Given the description of an element on the screen output the (x, y) to click on. 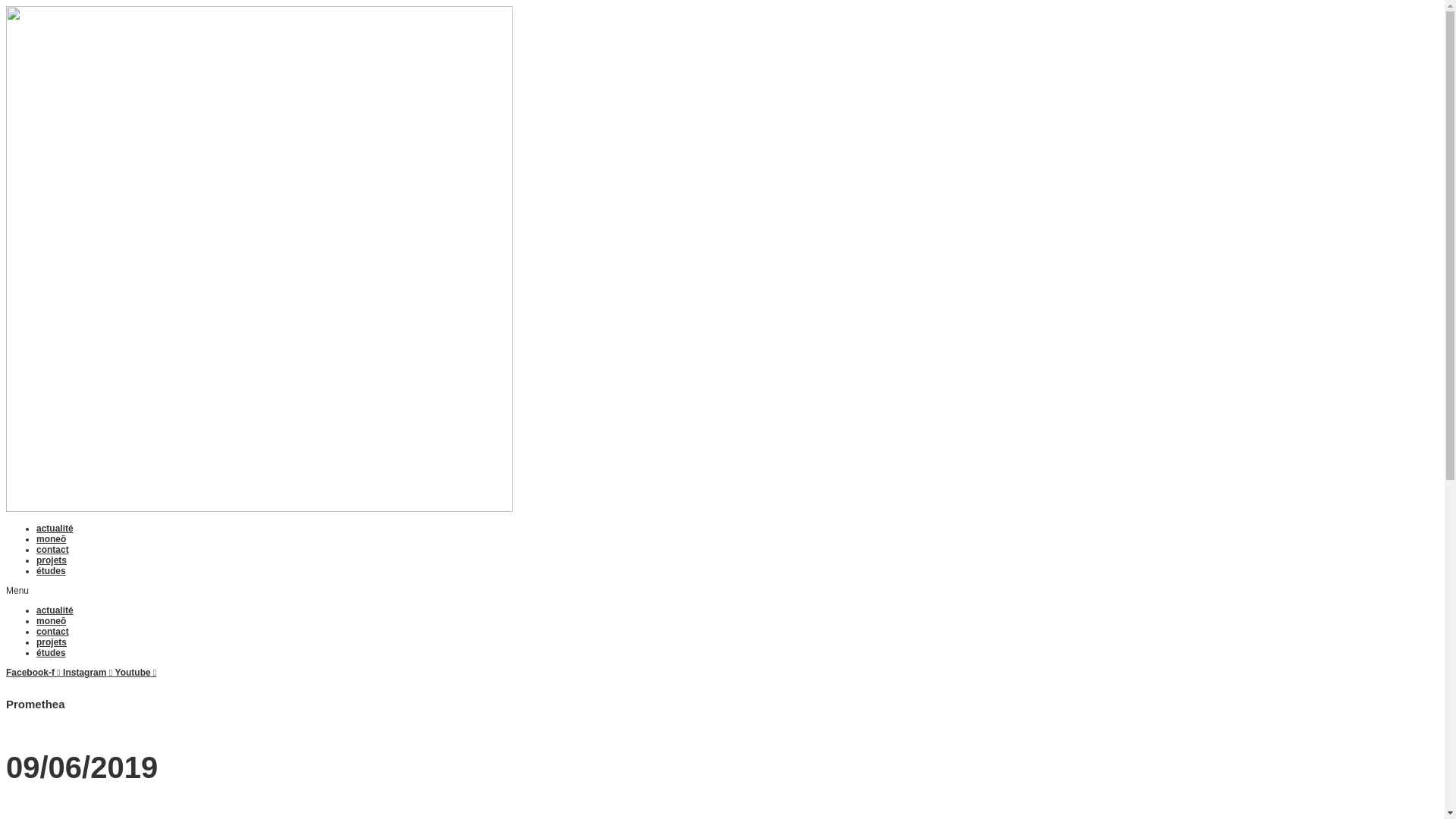
Youtube Element type: text (135, 672)
contact Element type: text (52, 631)
projets Element type: text (51, 642)
projets Element type: text (51, 560)
Instagram Element type: text (88, 672)
contact Element type: text (52, 549)
Facebook-f Element type: text (34, 672)
